Given the description of an element on the screen output the (x, y) to click on. 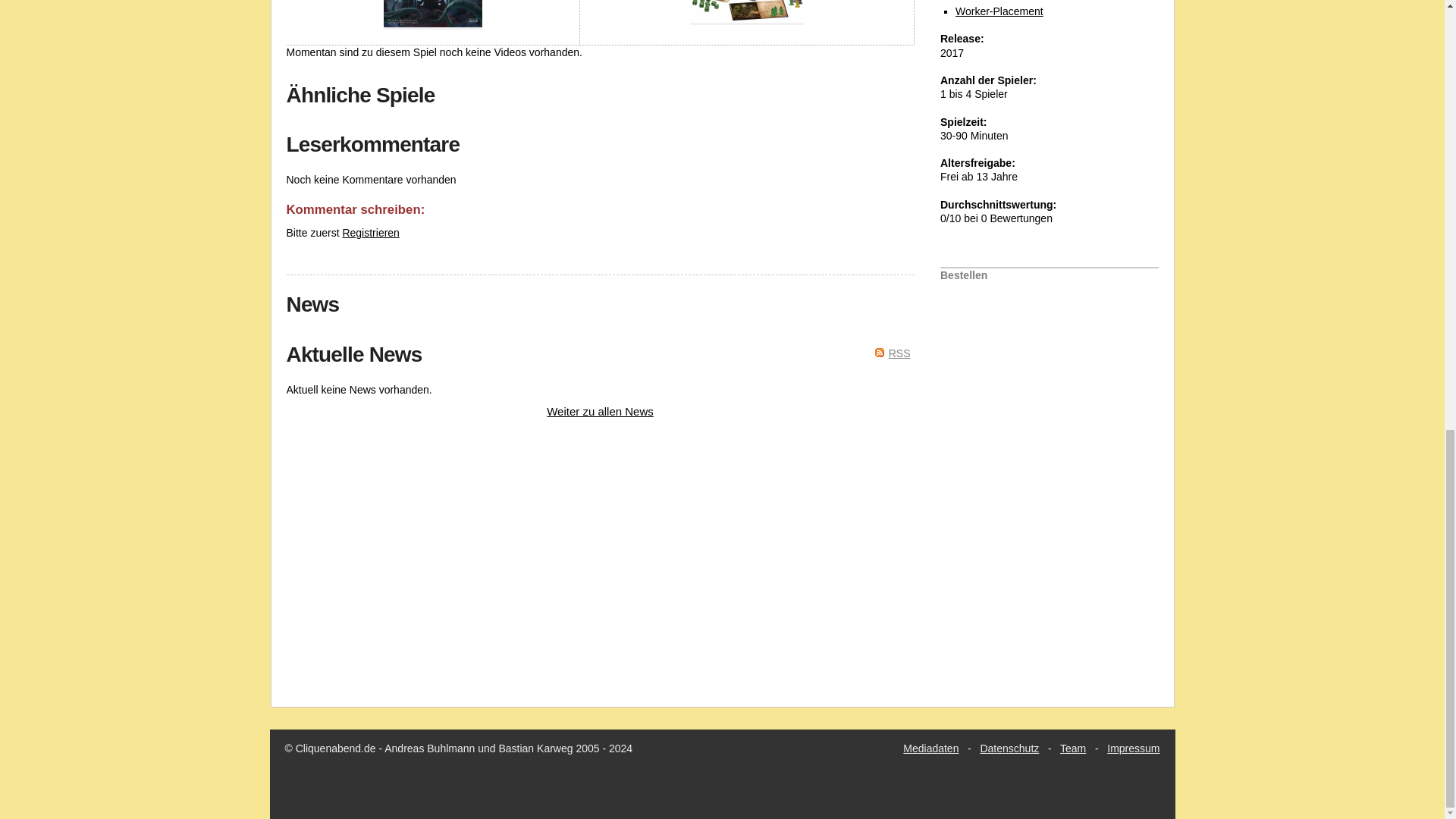
Worker-Placement (999, 10)
